Given the description of an element on the screen output the (x, y) to click on. 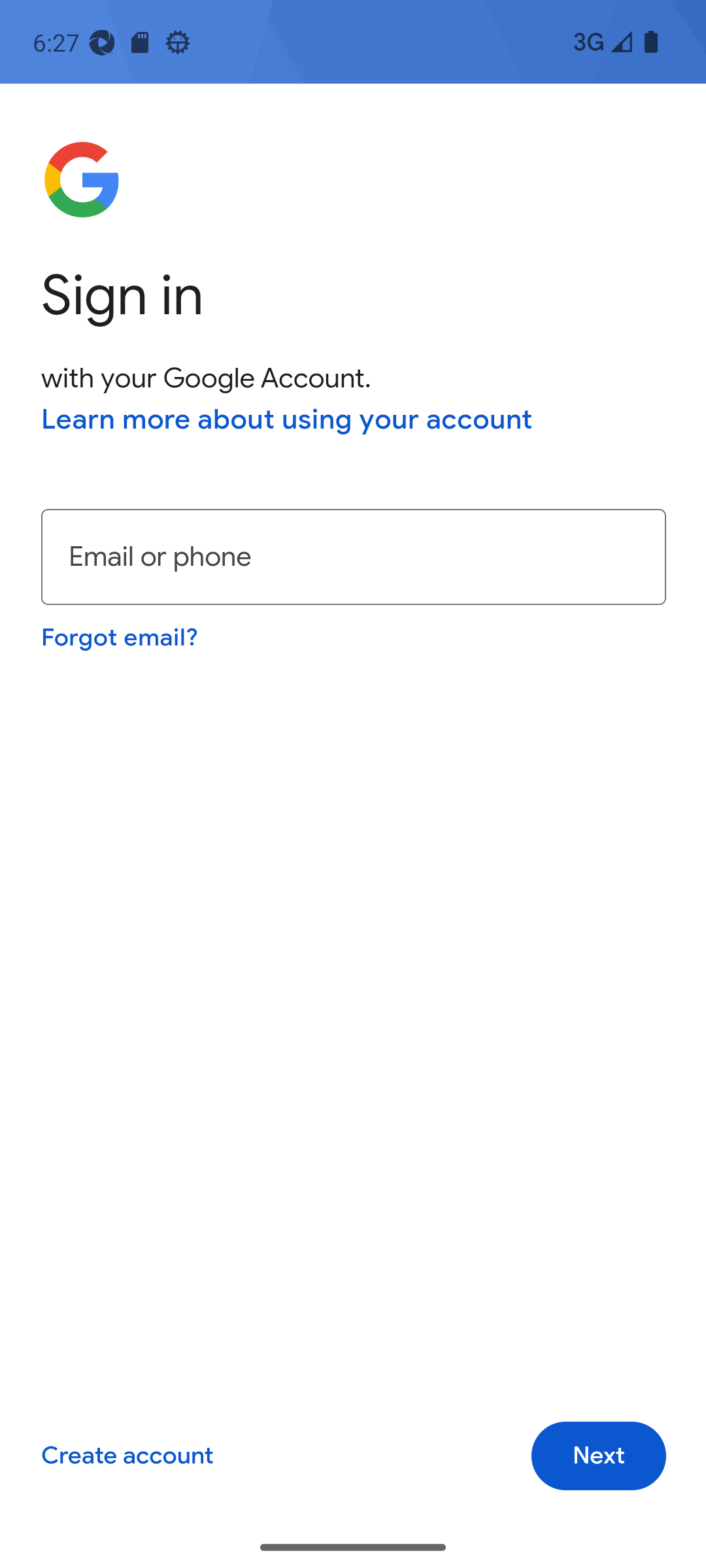
Learn more about using your account (286, 419)
Forgot email? (119, 635)
Create account (127, 1455)
Next (598, 1455)
